Given the description of an element on the screen output the (x, y) to click on. 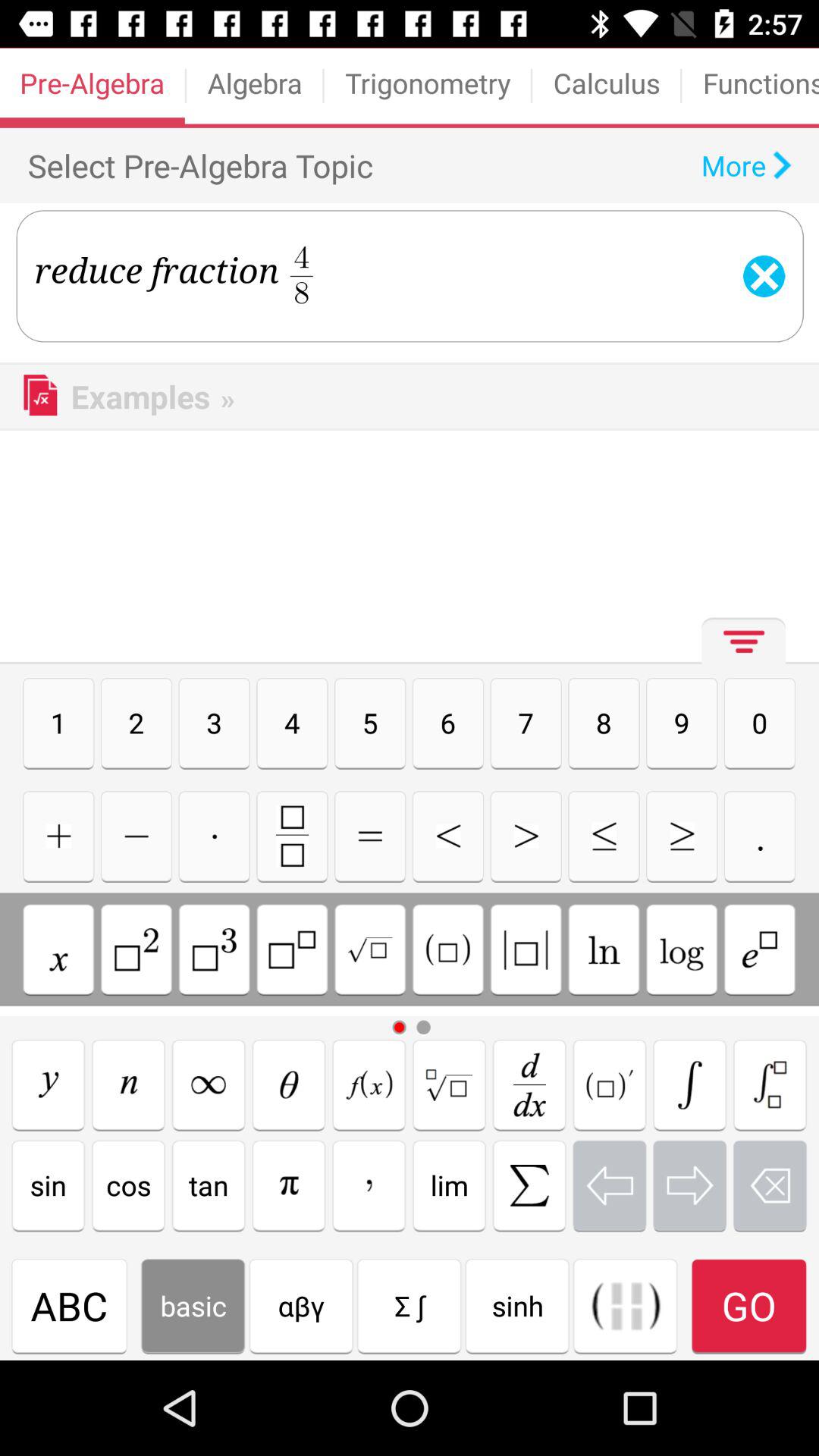
less than symbol (448, 835)
